Given the description of an element on the screen output the (x, y) to click on. 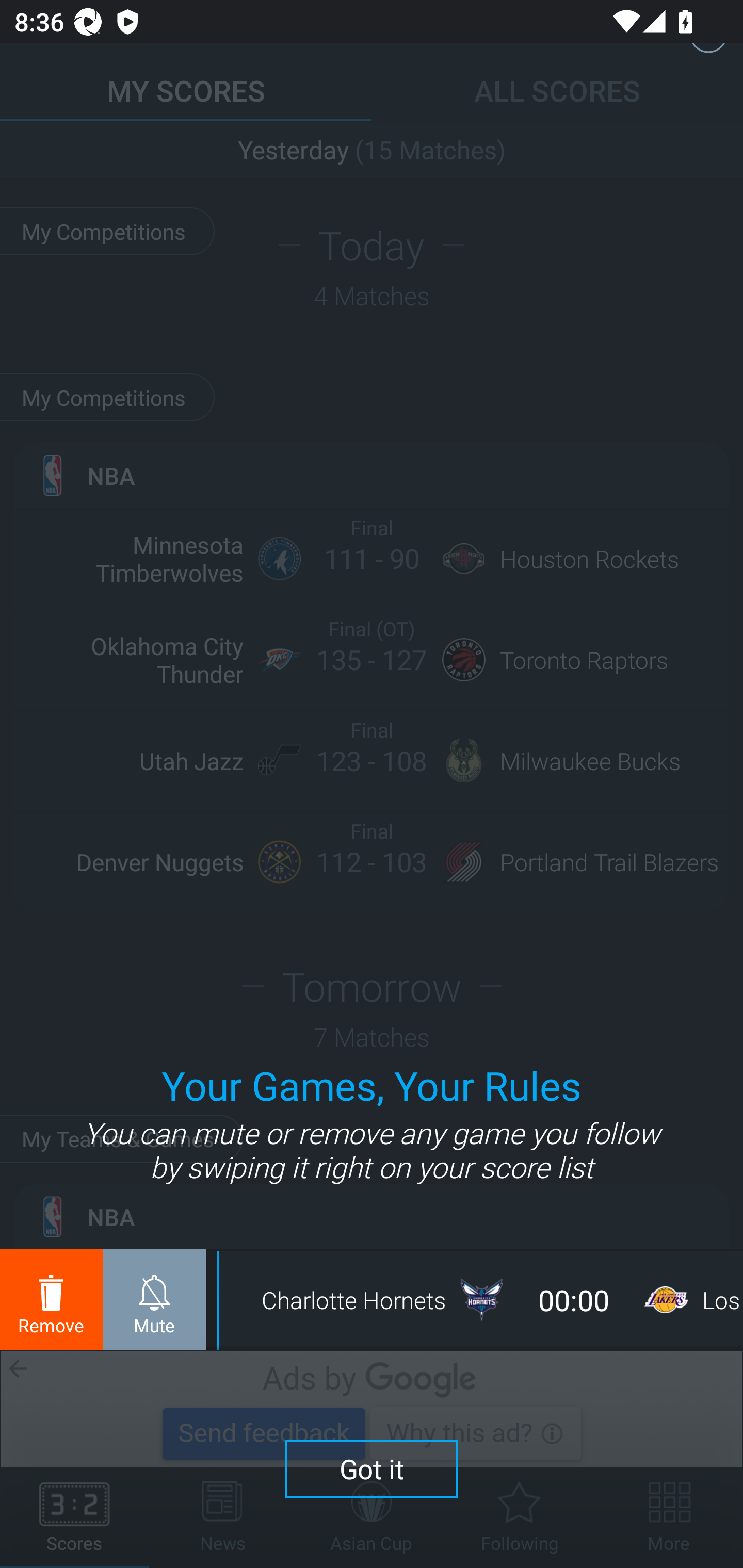
Charlotte Hornets 00:00 Los Angeles Lakers (479, 1299)
Got it (371, 1468)
